Given the description of an element on the screen output the (x, y) to click on. 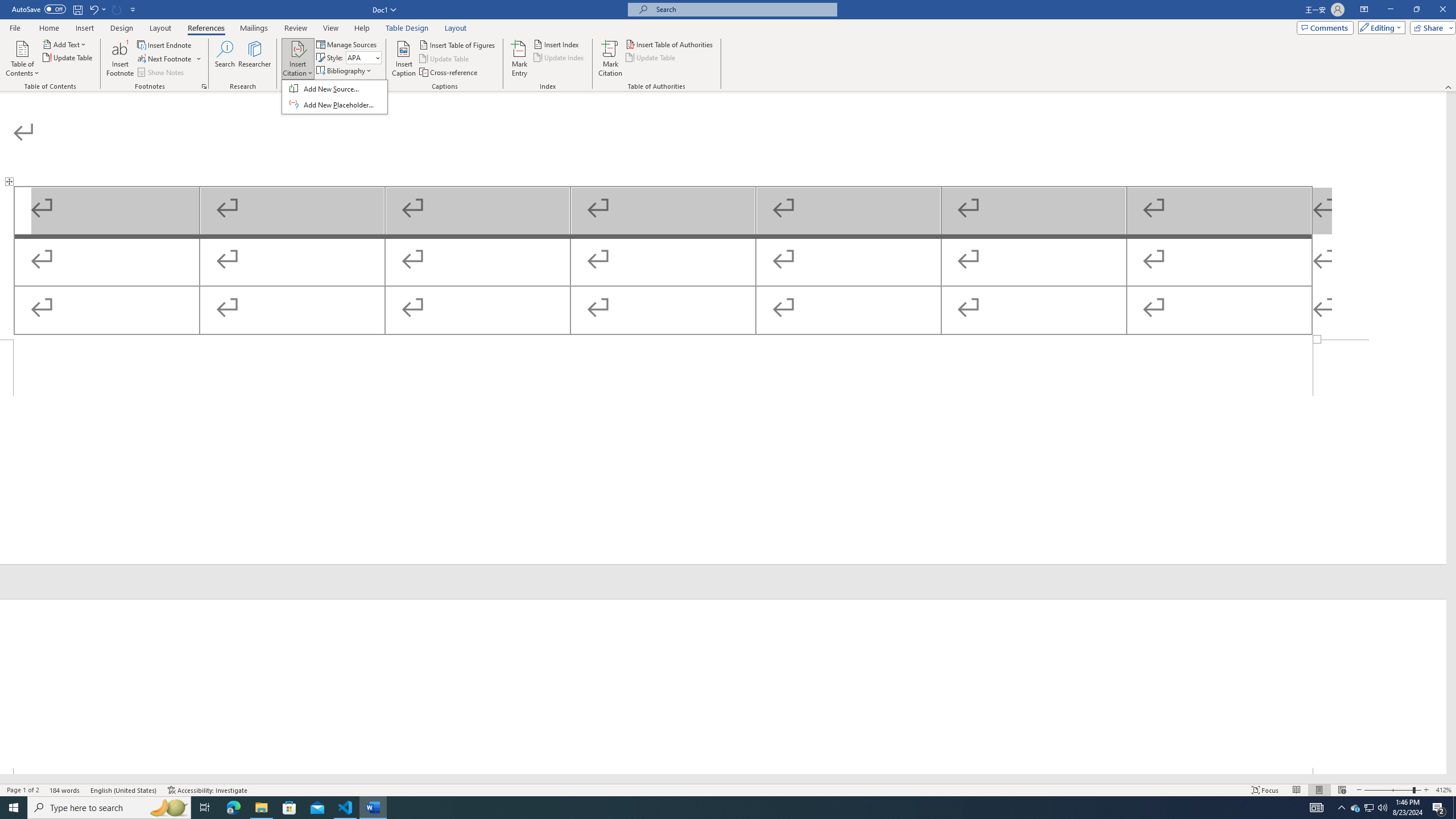
Show Notes (161, 72)
Table of Contents (1355, 807)
AutomationID: 4105 (22, 58)
Accessibility Checker Accessibility: Investigate (1316, 807)
Running applications (207, 790)
Mark Entry... (717, 807)
